Given the description of an element on the screen output the (x, y) to click on. 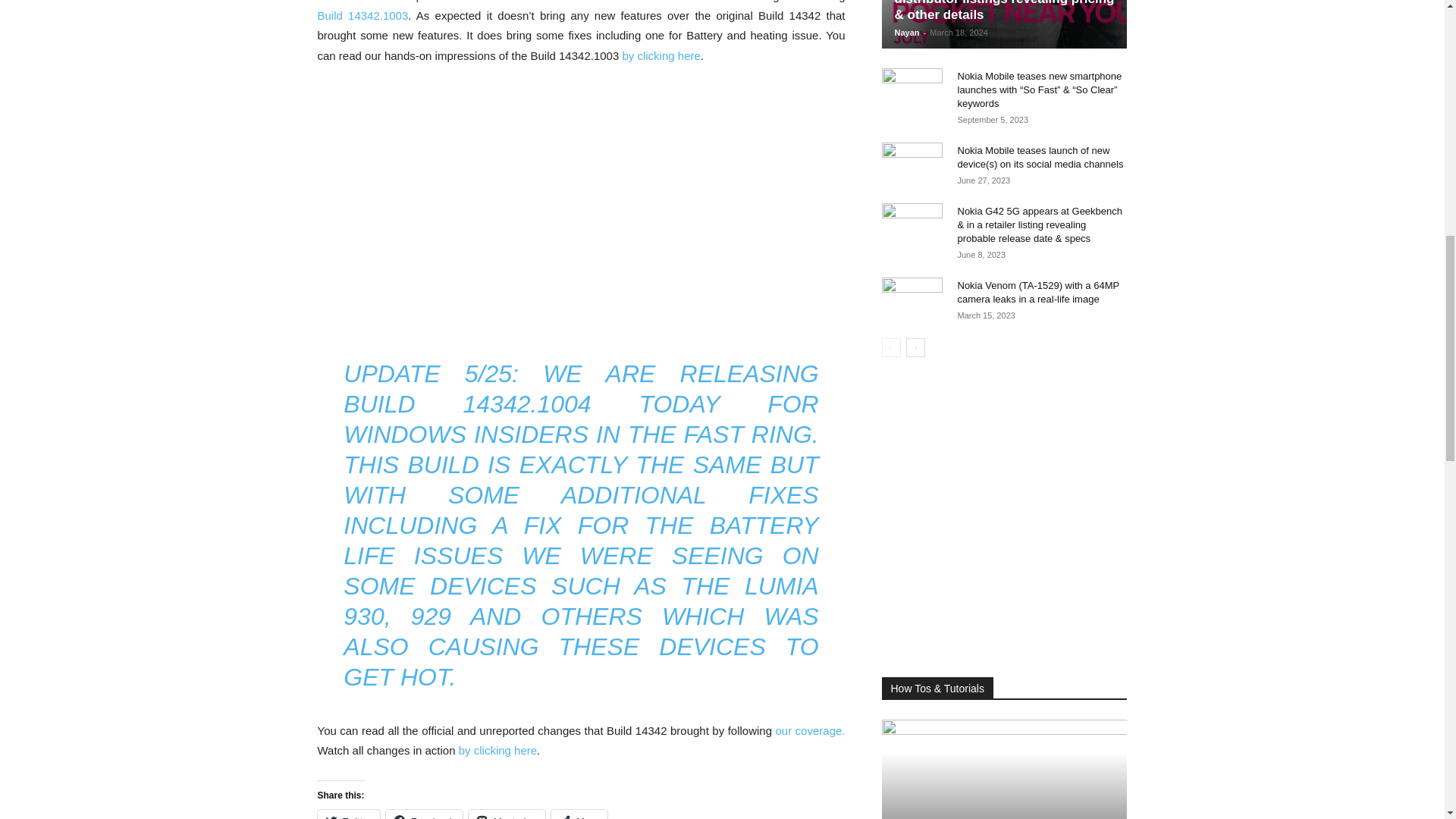
Click to share on Mastodon (506, 814)
Click to share on Facebook (424, 814)
Click to share on Twitter (347, 814)
